Given the description of an element on the screen output the (x, y) to click on. 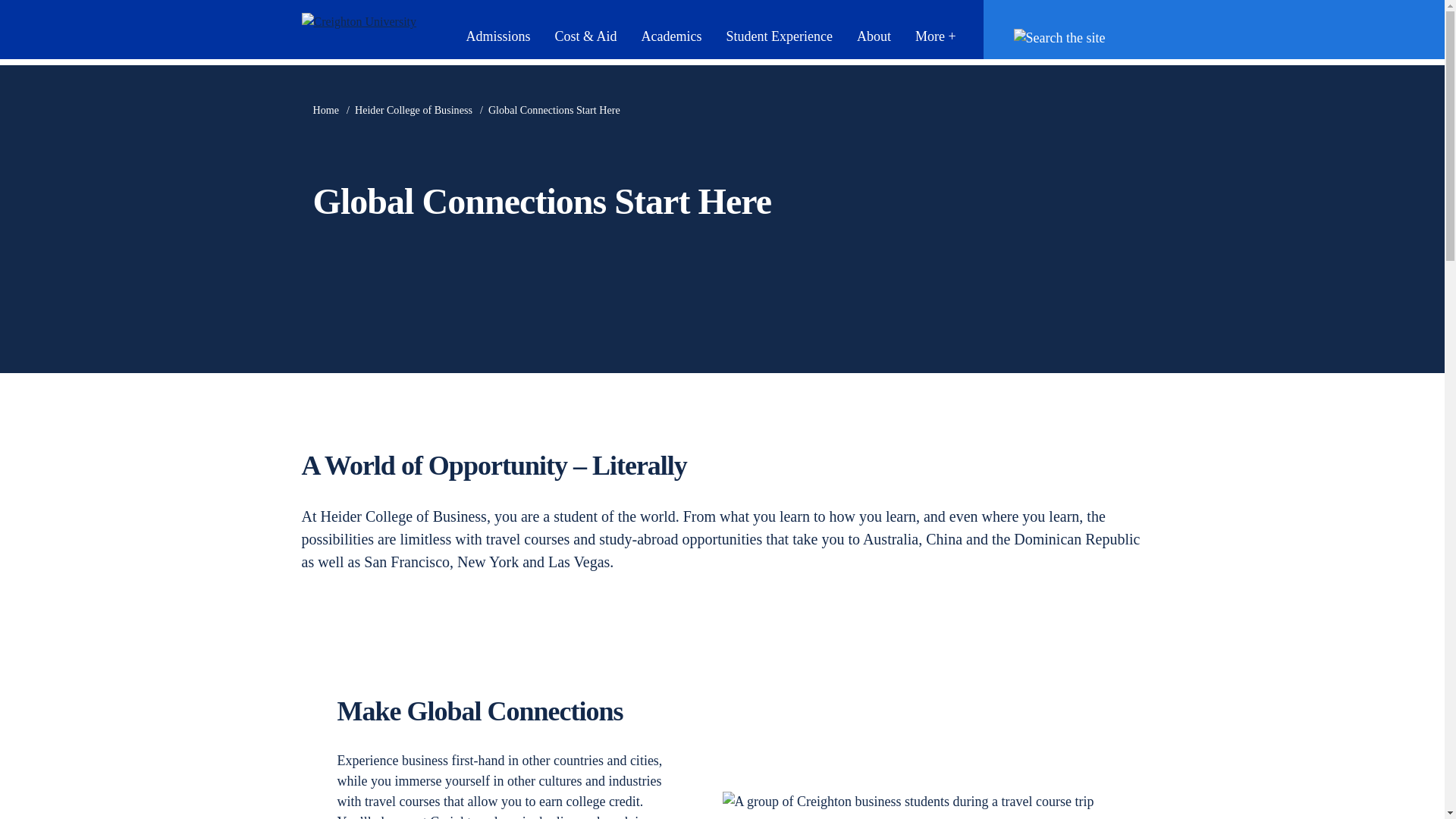
Academics (670, 36)
About (873, 36)
Student Experience (778, 36)
Admissions (496, 36)
Search Creighton.edu (1066, 36)
